Given the description of an element on the screen output the (x, y) to click on. 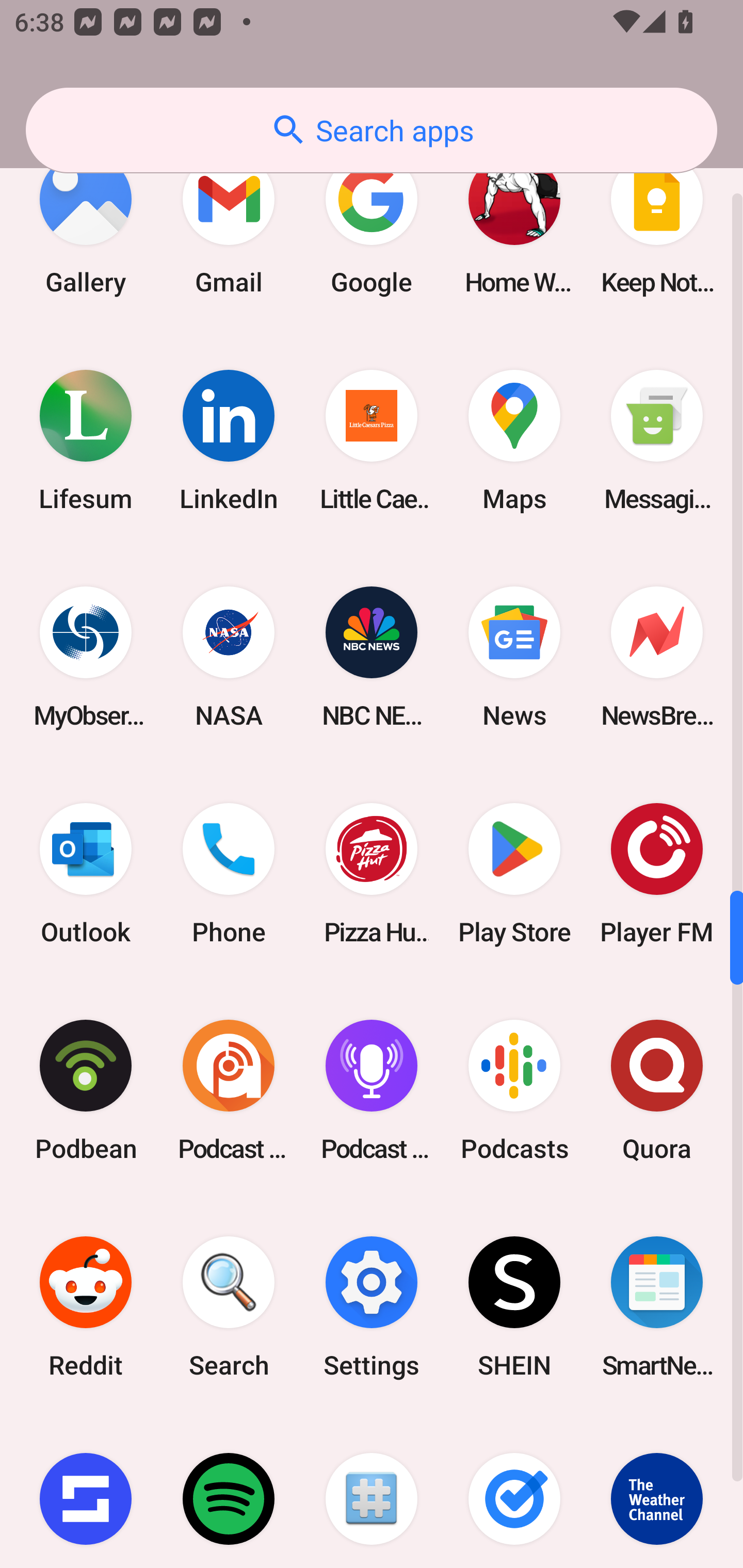
  Search apps (371, 130)
Gallery (85, 224)
Gmail (228, 224)
Google (371, 224)
Home Workout (514, 224)
Keep Notes (656, 224)
Lifesum (85, 440)
LinkedIn (228, 440)
Little Caesars Pizza (371, 440)
Maps (514, 440)
Messaging (656, 440)
MyObservatory (85, 656)
NASA (228, 656)
NBC NEWS (371, 656)
News (514, 656)
NewsBreak (656, 656)
Outlook (85, 873)
Phone (228, 873)
Pizza Hut HK & Macau (371, 873)
Play Store (514, 873)
Player FM (656, 873)
Podbean (85, 1089)
Podcast Addict (228, 1089)
Podcast Player (371, 1089)
Podcasts (514, 1089)
Quora (656, 1089)
Reddit (85, 1306)
Search (228, 1306)
Settings (371, 1306)
SHEIN (514, 1306)
SmartNews (656, 1306)
Sofascore (85, 1491)
Spotify (228, 1491)
Superuser (371, 1491)
Tasks (514, 1491)
The Weather Channel (656, 1491)
